Given the description of an element on the screen output the (x, y) to click on. 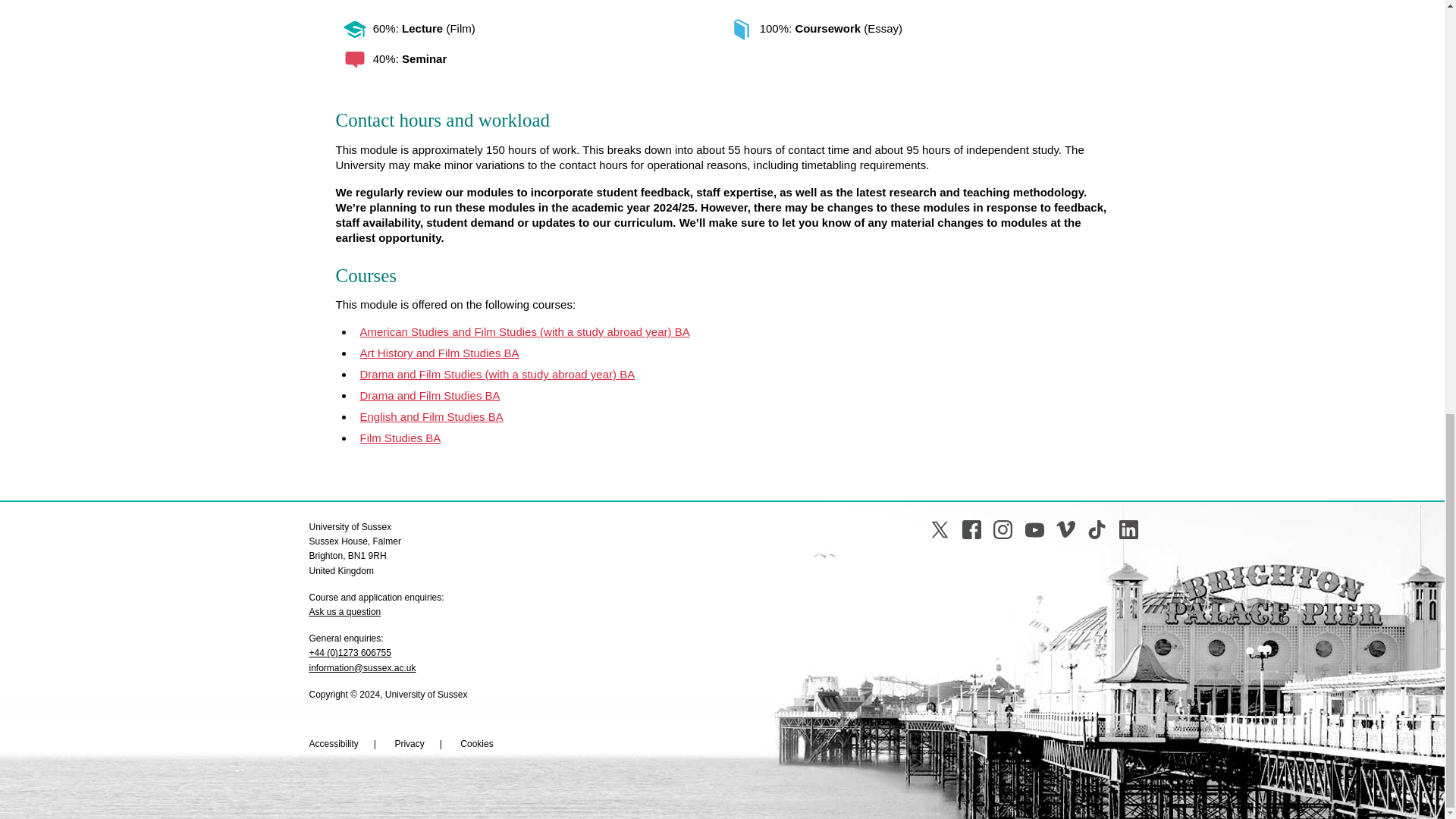
Linkedin (1128, 529)
Facebook (971, 529)
Vimeo (1066, 529)
Twitter (939, 529)
Instagram (1001, 529)
Tiktok (1096, 529)
YouTube (1034, 529)
